Given the description of an element on the screen output the (x, y) to click on. 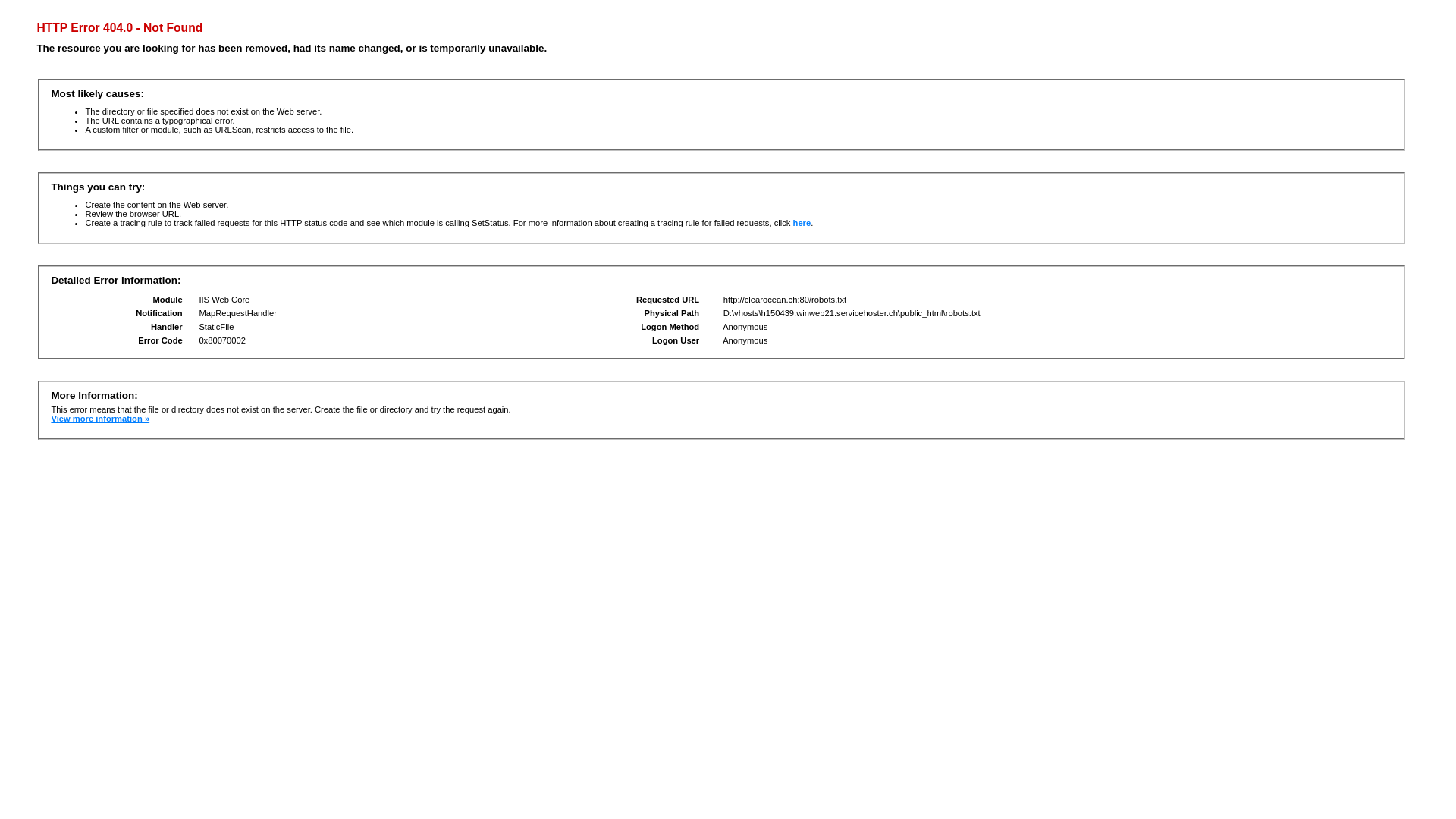
here Element type: text (802, 222)
